Given the description of an element on the screen output the (x, y) to click on. 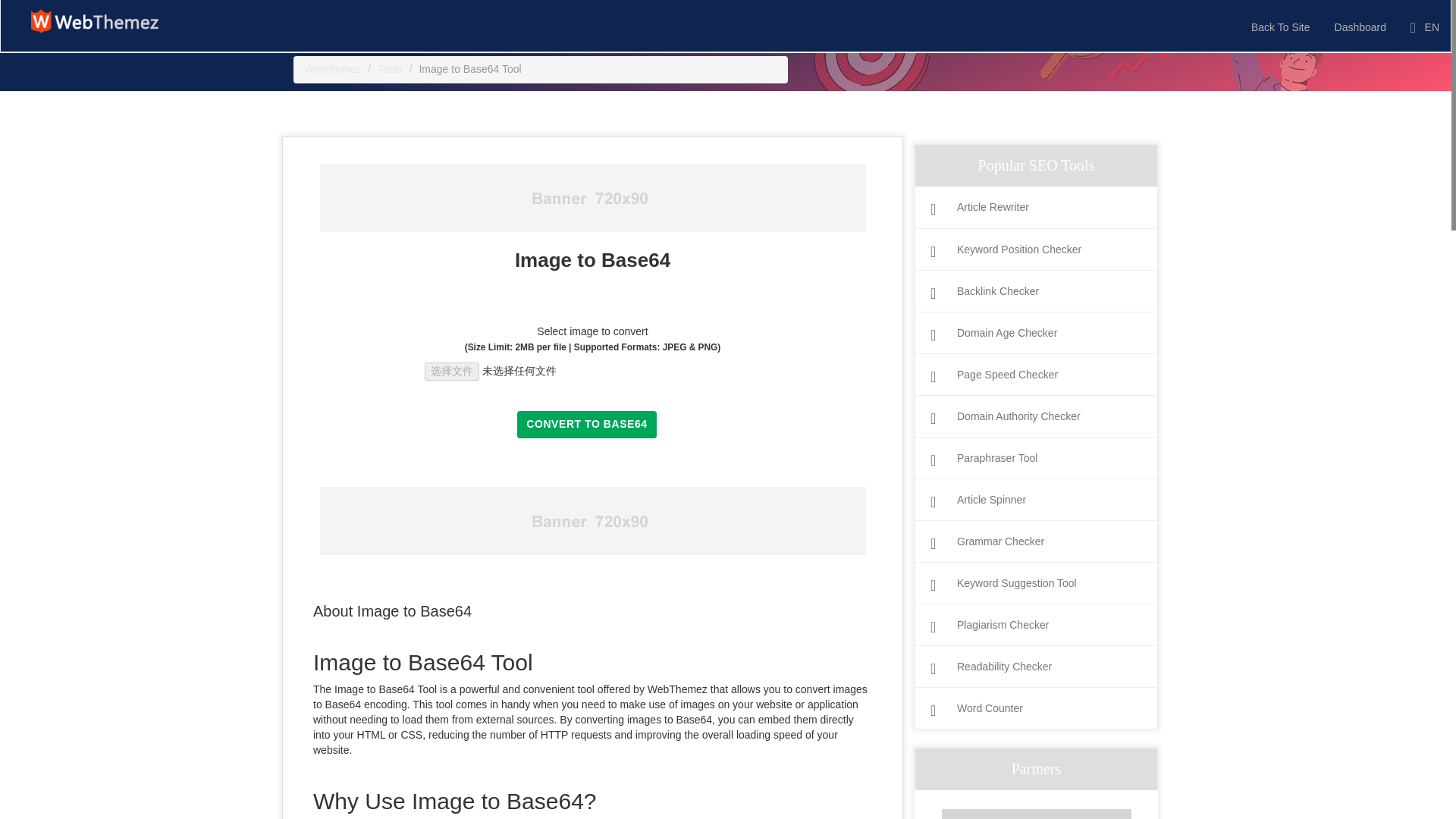
Domain Age Checker (1036, 333)
Paraphraser Tool (1036, 458)
Domain Authority Checker (1036, 416)
Dashboard (1360, 25)
Tools (390, 69)
Back To Site (1281, 25)
Page Speed Checker (1036, 374)
Webthemez (332, 69)
Keyword Suggestion Tool (1036, 583)
Backlink Checker (1036, 291)
